Given the description of an element on the screen output the (x, y) to click on. 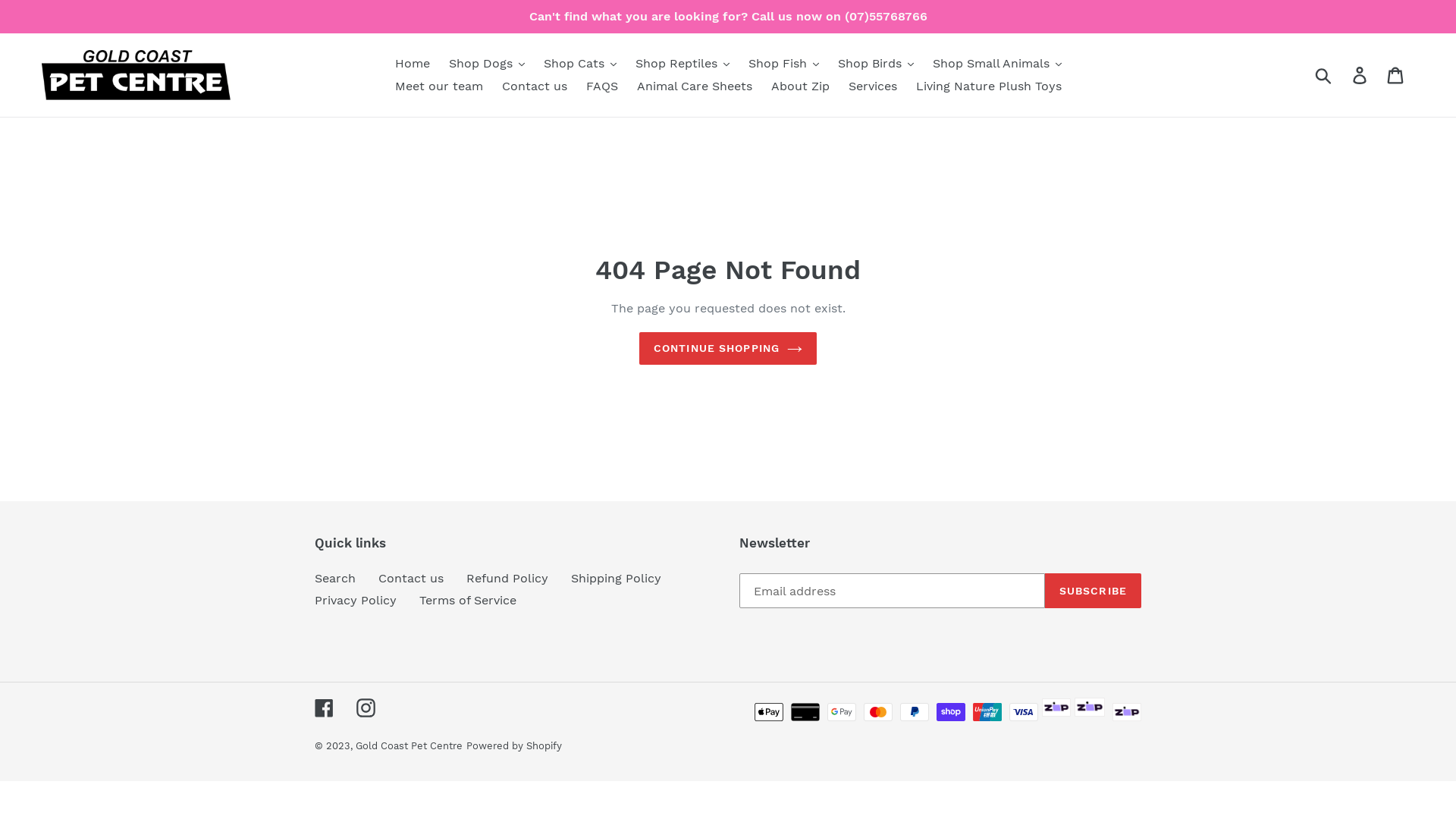
Shipping Policy Element type: text (616, 578)
Contact us Element type: text (534, 86)
SUBSCRIBE Element type: text (1092, 590)
Terms of Service Element type: text (467, 600)
Refund Policy Element type: text (507, 578)
Meet our team Element type: text (437, 86)
Privacy Policy Element type: text (355, 600)
Search Element type: text (334, 578)
Services Element type: text (871, 86)
Home Element type: text (411, 63)
About Zip Element type: text (799, 86)
Animal Care Sheets Element type: text (694, 86)
Submit Element type: text (1324, 74)
Contact us Element type: text (410, 578)
FAQS Element type: text (600, 86)
Cart Element type: text (1396, 75)
Log in Element type: text (1360, 75)
Powered by Shopify Element type: text (513, 745)
Gold Coast Pet Centre Element type: text (408, 745)
Facebook Element type: text (323, 708)
Instagram Element type: text (365, 708)
Living Nature Plush Toys Element type: text (988, 86)
CONTINUE SHOPPING Element type: text (727, 348)
